Given the description of an element on the screen output the (x, y) to click on. 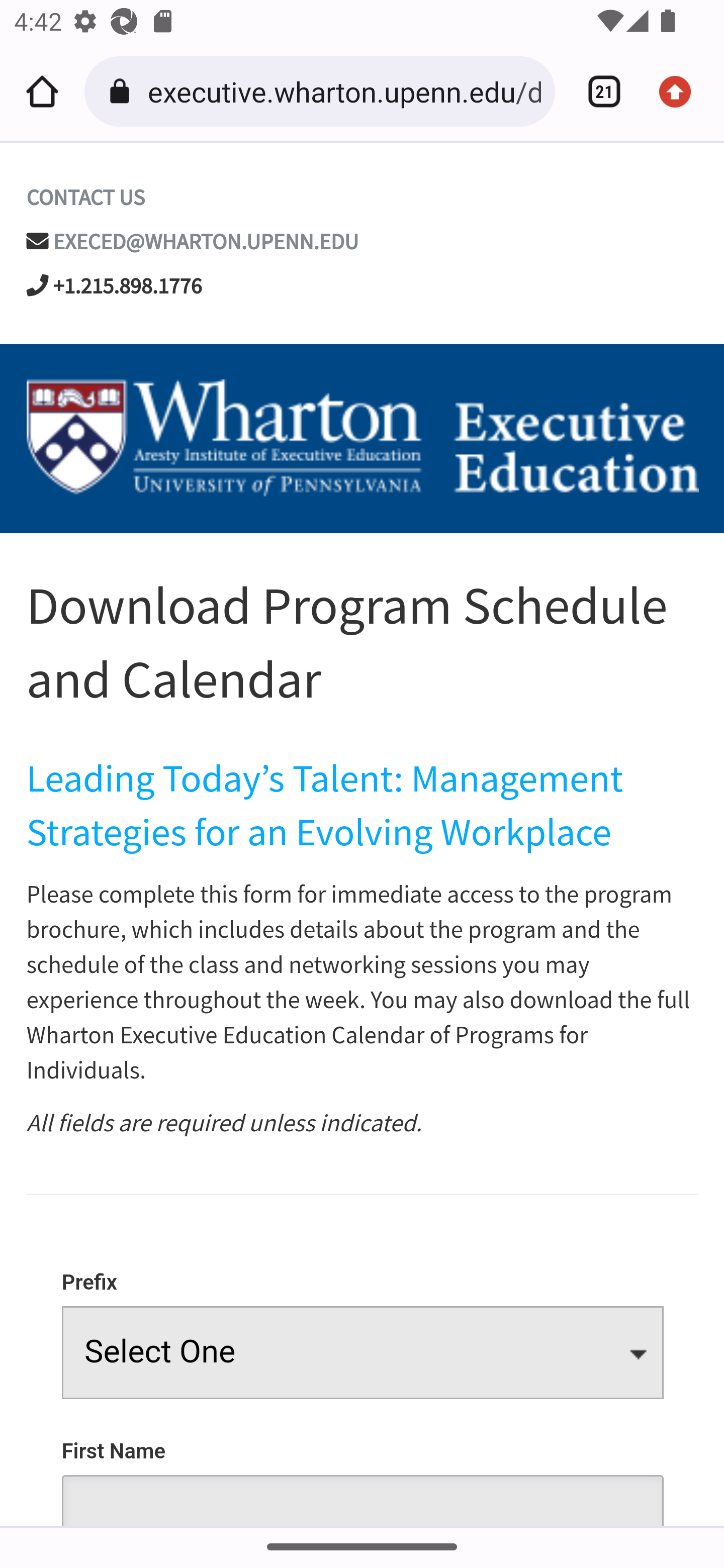
Home (42, 91)
Connection is secure (122, 91)
Switch or close tabs (597, 91)
Update available. More options (681, 91)
CONTACT US (84, 198)
EXECED@WHARTON.UPENN.EDU (206, 242)
Wharton - University of Pennsylvania (362, 438)
Select One (362, 1352)
First Name (362, 1471)
